Given the description of an element on the screen output the (x, y) to click on. 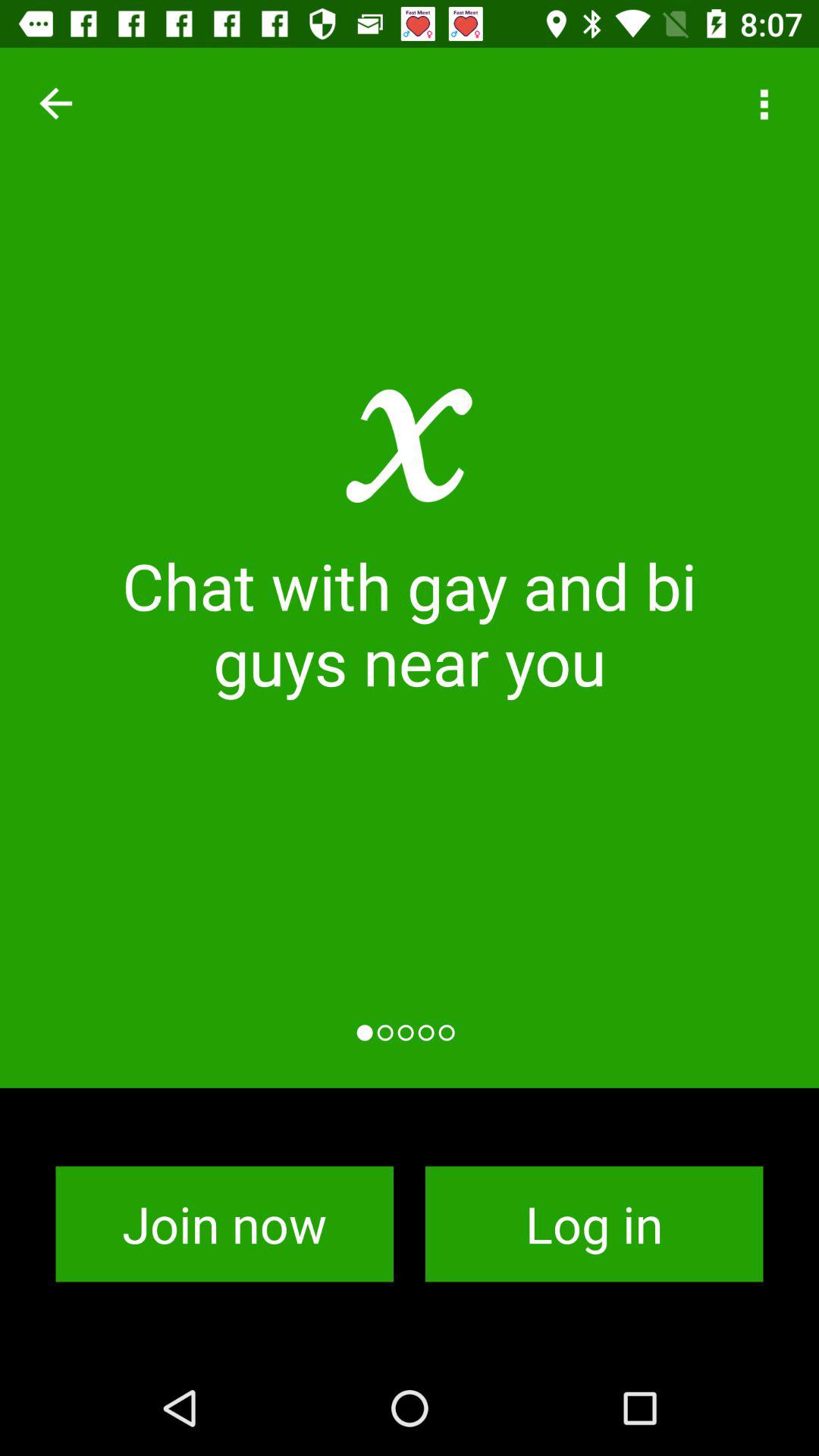
open item at the top right corner (763, 103)
